Given the description of an element on the screen output the (x, y) to click on. 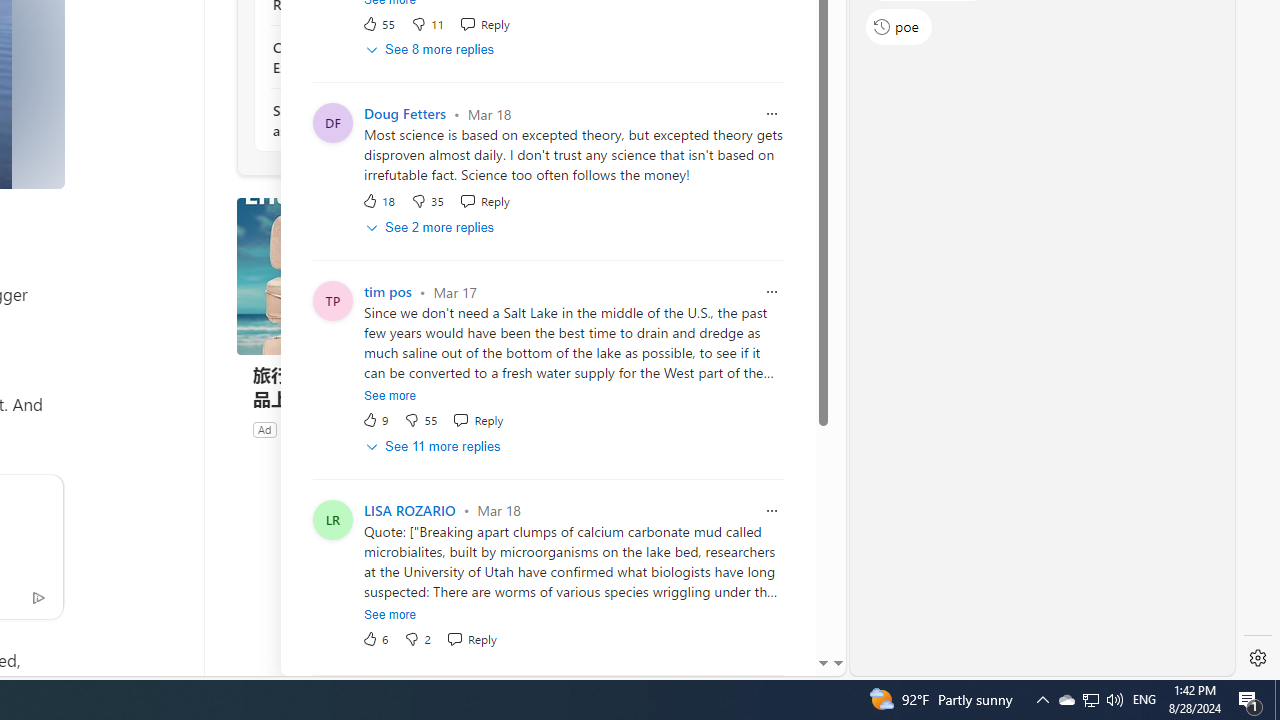
LISA ROZARIO (409, 510)
Profile Picture (333, 519)
18 Like (378, 200)
See more (390, 614)
Ad (264, 429)
Feedback (755, 659)
Settings (1258, 658)
Nordace (304, 429)
9 Like (375, 420)
Report comment (771, 510)
